Given the description of an element on the screen output the (x, y) to click on. 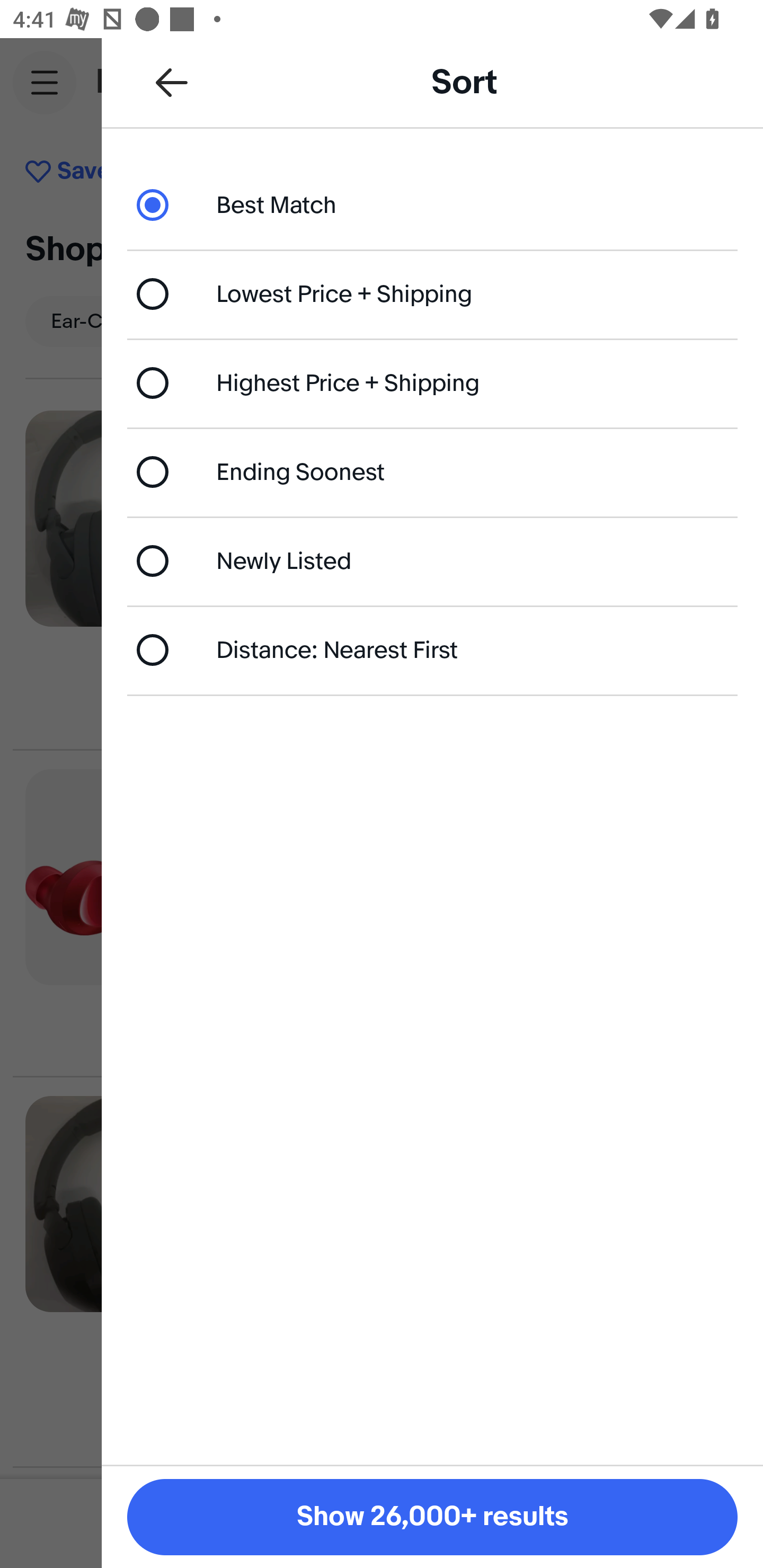
Back to all refinements (171, 81)
Best Match - currently selected Best Match (432, 204)
Lowest Price + Shipping (432, 293)
Highest Price + Shipping (432, 383)
Ending Soonest (432, 471)
Newly Listed (432, 560)
Distance: Nearest First (432, 649)
Show 26,000+ results (432, 1516)
